Given the description of an element on the screen output the (x, y) to click on. 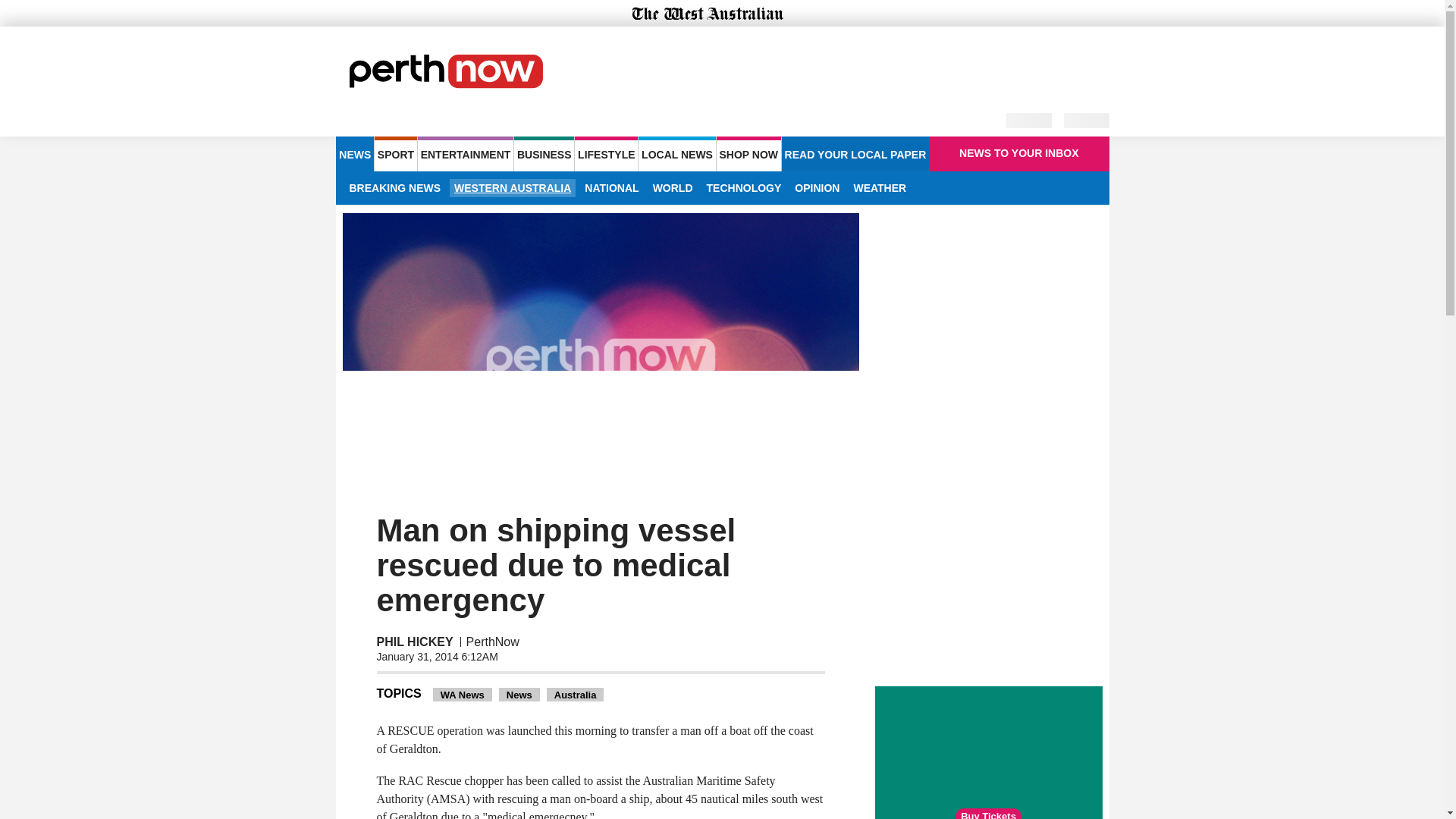
SPORT (395, 153)
NEWS (354, 153)
BUSINESS (543, 153)
ENTERTAINMENT (465, 153)
